Given the description of an element on the screen output the (x, y) to click on. 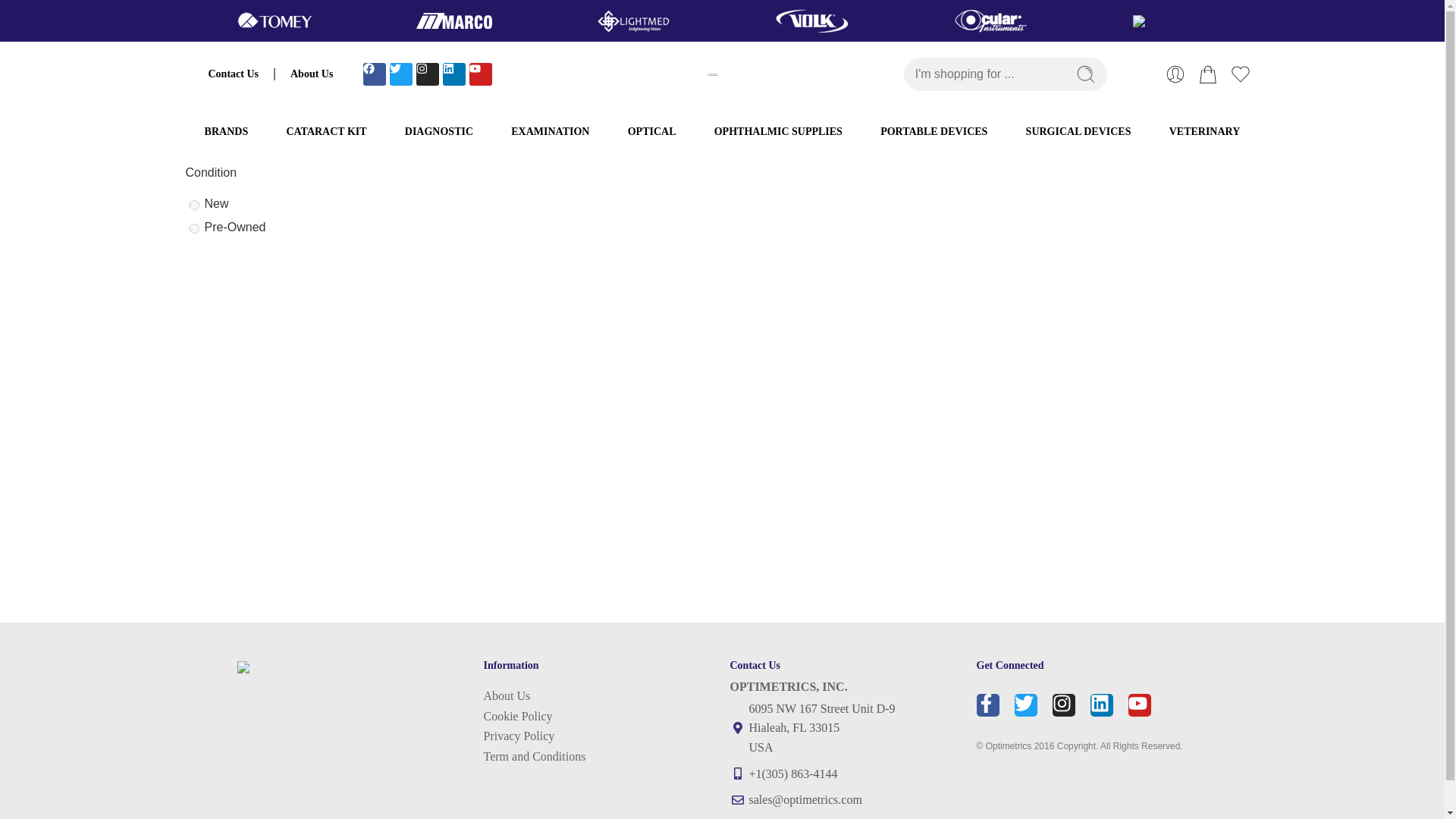
EXAMINATION (550, 131)
Cart (1207, 74)
BRANDS (225, 131)
DIAGNOSTIC (438, 131)
About Us (311, 73)
Contact Us (232, 73)
on (194, 228)
Wishlist (1240, 74)
optimetrics-logo-03 (328, 666)
CATARACT KIT (325, 131)
